Given the description of an element on the screen output the (x, y) to click on. 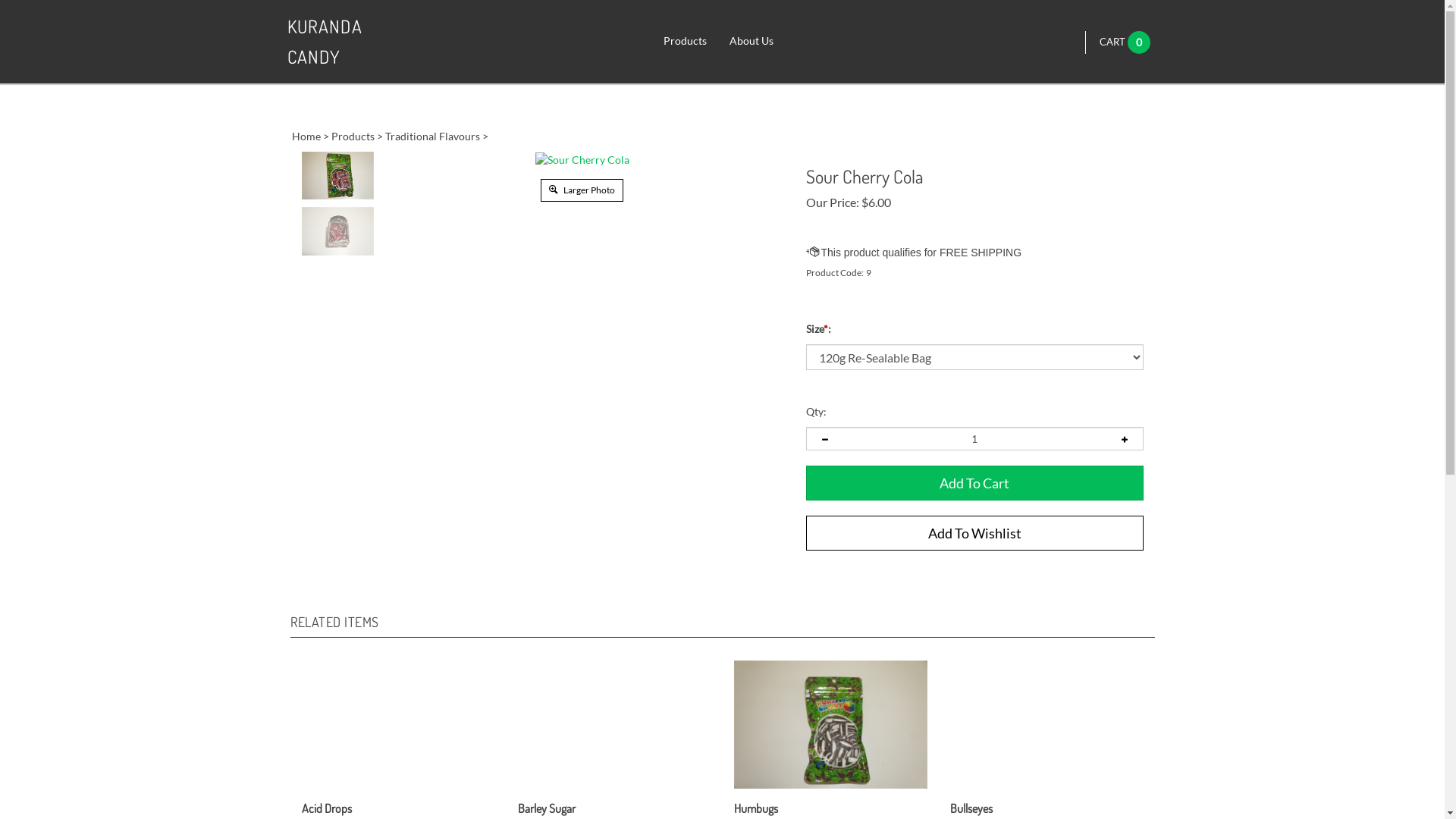
Sour Cherry Cola Element type: hover (337, 230)
Humbugs Element type: text (756, 808)
CART
0 Element type: text (1124, 41)
(Opens new window) View Free Shipping Details Element type: hover (913, 252)
Sour Cherry Cola Element type: hover (337, 175)
Acid Drops Element type: hover (398, 787)
Acid Drops Element type: hover (301, 787)
KURANDA CANDY Element type: text (348, 41)
Sour Cherry Cola Element type: hover (582, 159)
Add To Wishlist Element type: text (973, 532)
About Us Element type: text (751, 41)
Bullseyes Element type: hover (1045, 787)
Bullseyes Element type: text (970, 808)
plus Element type: text (1124, 438)
Humbugs Element type: hover (830, 724)
Add To Cart Element type: text (973, 482)
Sour Cherry Cola Element type: hover (582, 159)
Traditional Flavours Element type: text (432, 135)
Barley Sugar Element type: text (545, 808)
Acid Drops Element type: text (326, 808)
Products Element type: text (351, 135)
Home Element type: text (305, 135)
Larger Photo Element type: text (581, 188)
Products Element type: text (685, 41)
Barley Sugar Element type: hover (613, 787)
Quantity Element type: hover (973, 438)
Bullseyes Element type: hover (949, 787)
minus Element type: text (824, 438)
Barley Sugar Element type: hover (517, 787)
